Given the description of an element on the screen output the (x, y) to click on. 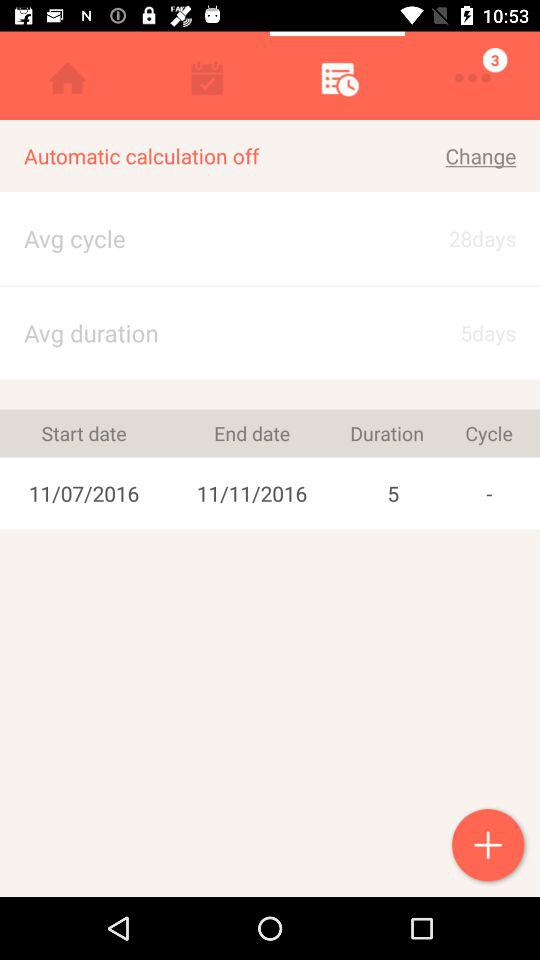
select 5days icon (463, 332)
